Given the description of an element on the screen output the (x, y) to click on. 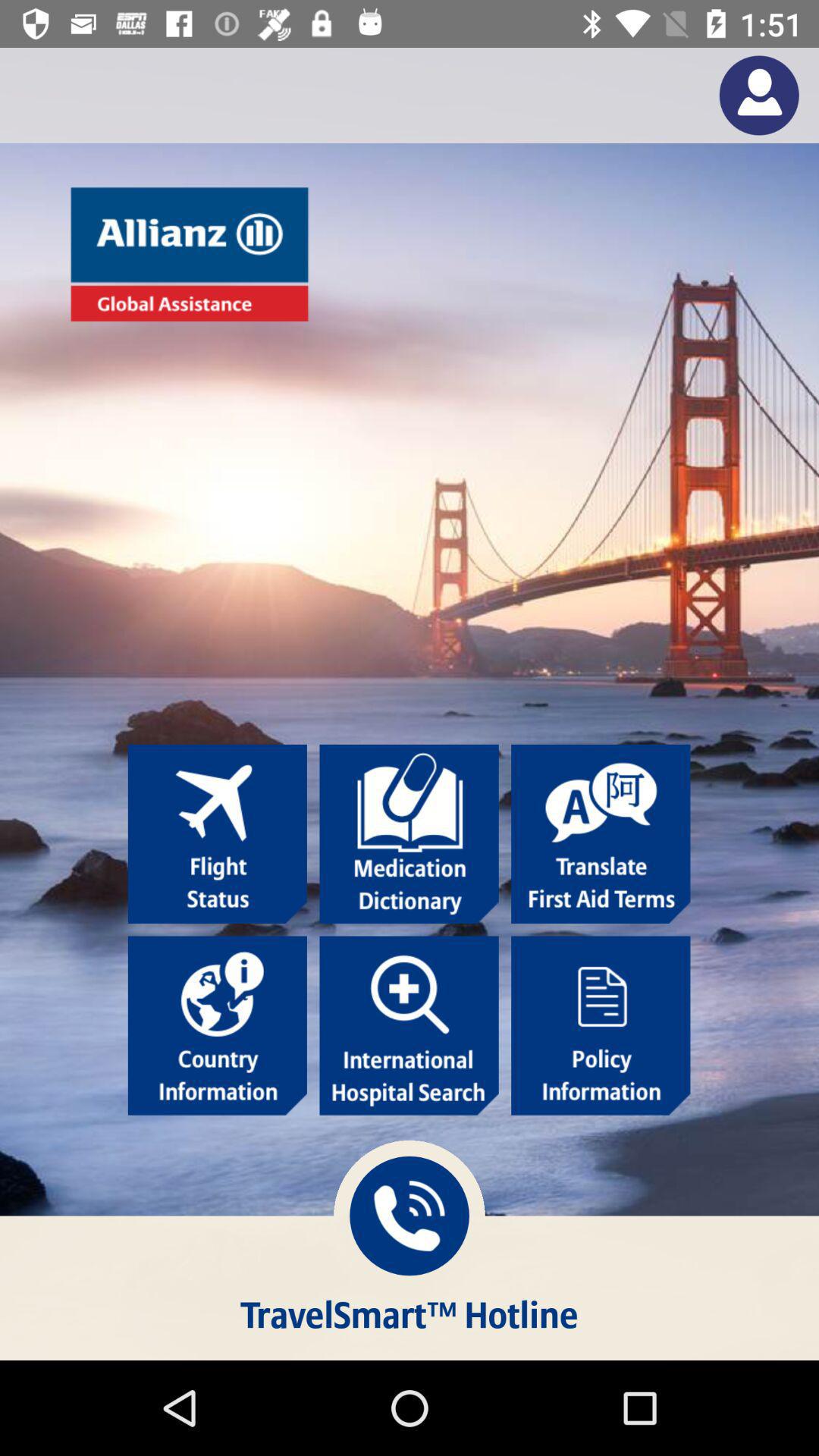
open fligh statusa (217, 833)
